Given the description of an element on the screen output the (x, y) to click on. 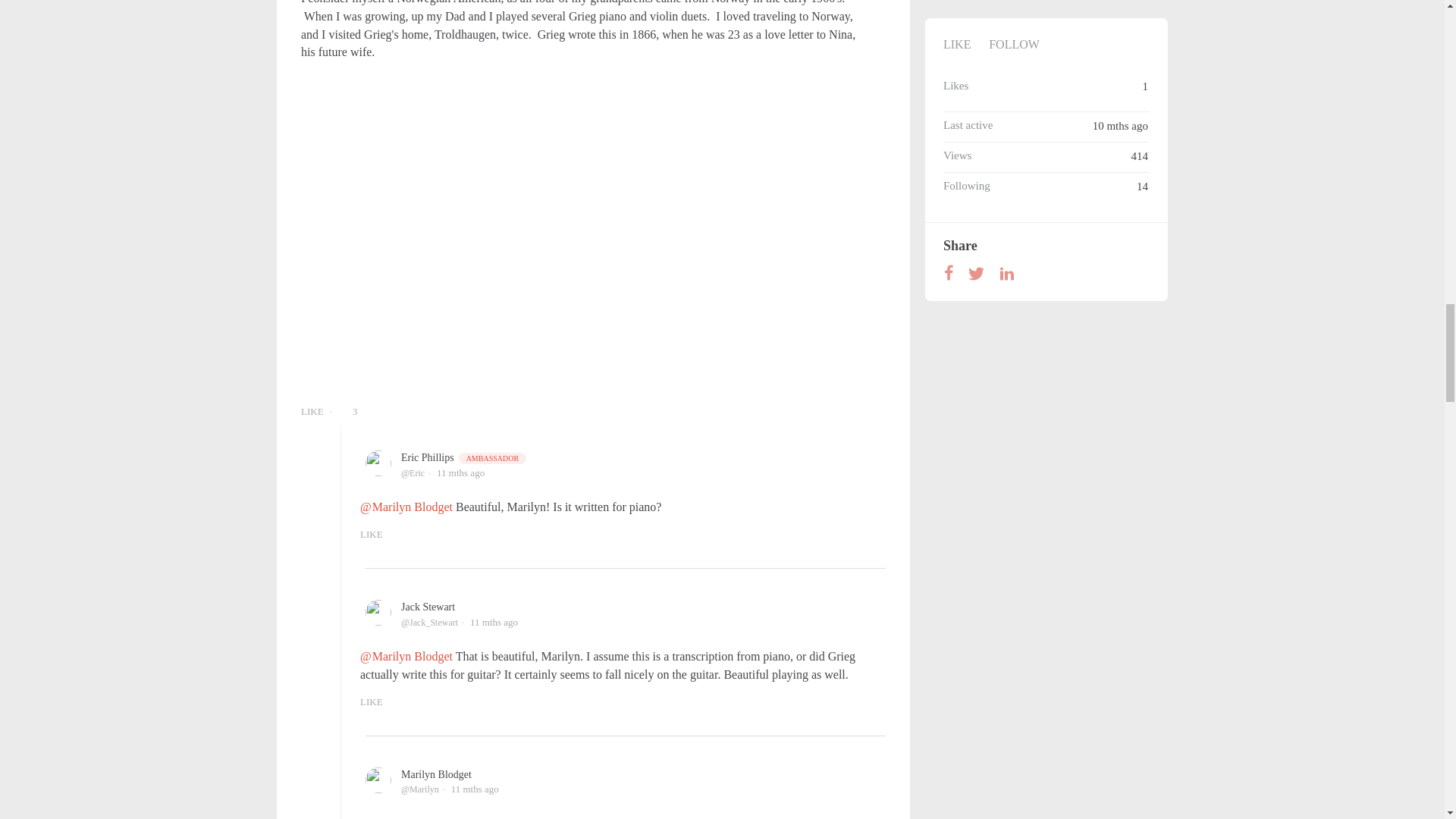
Eric PhillipsAMBASSADOR (464, 457)
Jack Stewart (427, 606)
Marilyn Blodget (436, 774)
